Given the description of an element on the screen output the (x, y) to click on. 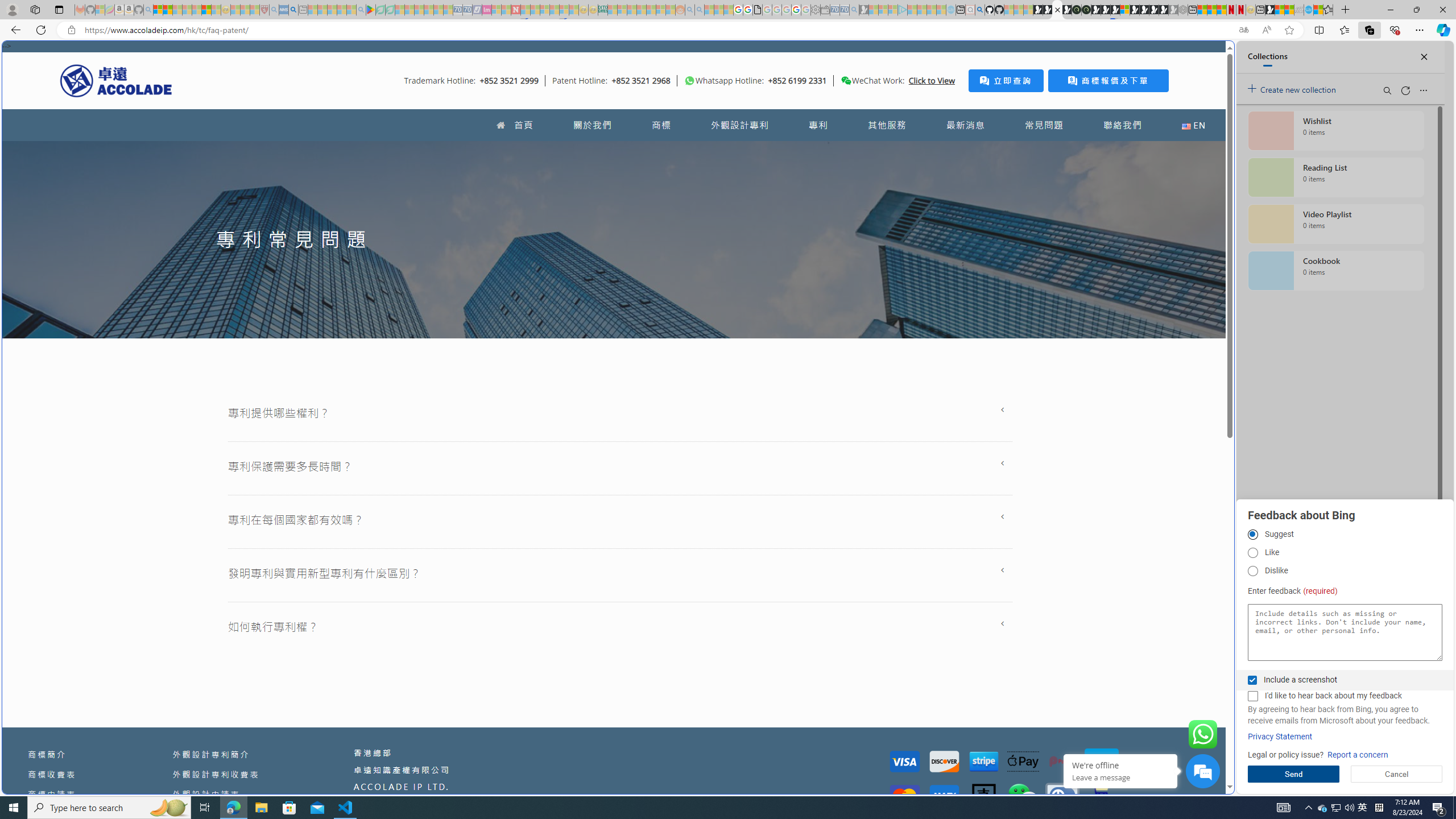
EN (1193, 124)
Search or enter web address (922, 108)
Show translate options (1243, 29)
Cancel (1396, 773)
